Given the description of an element on the screen output the (x, y) to click on. 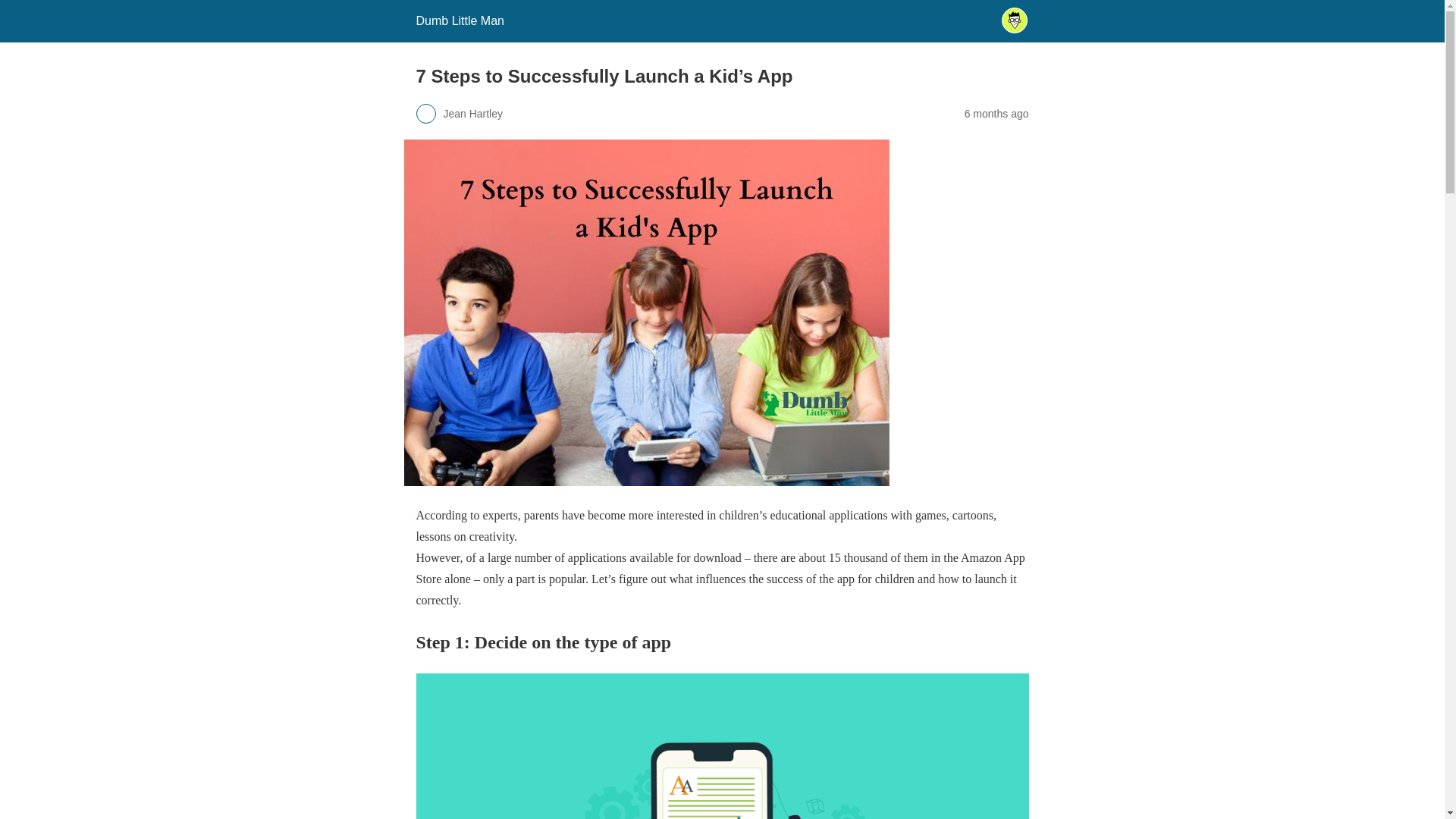
Dumb Little Man (458, 20)
